Given the description of an element on the screen output the (x, y) to click on. 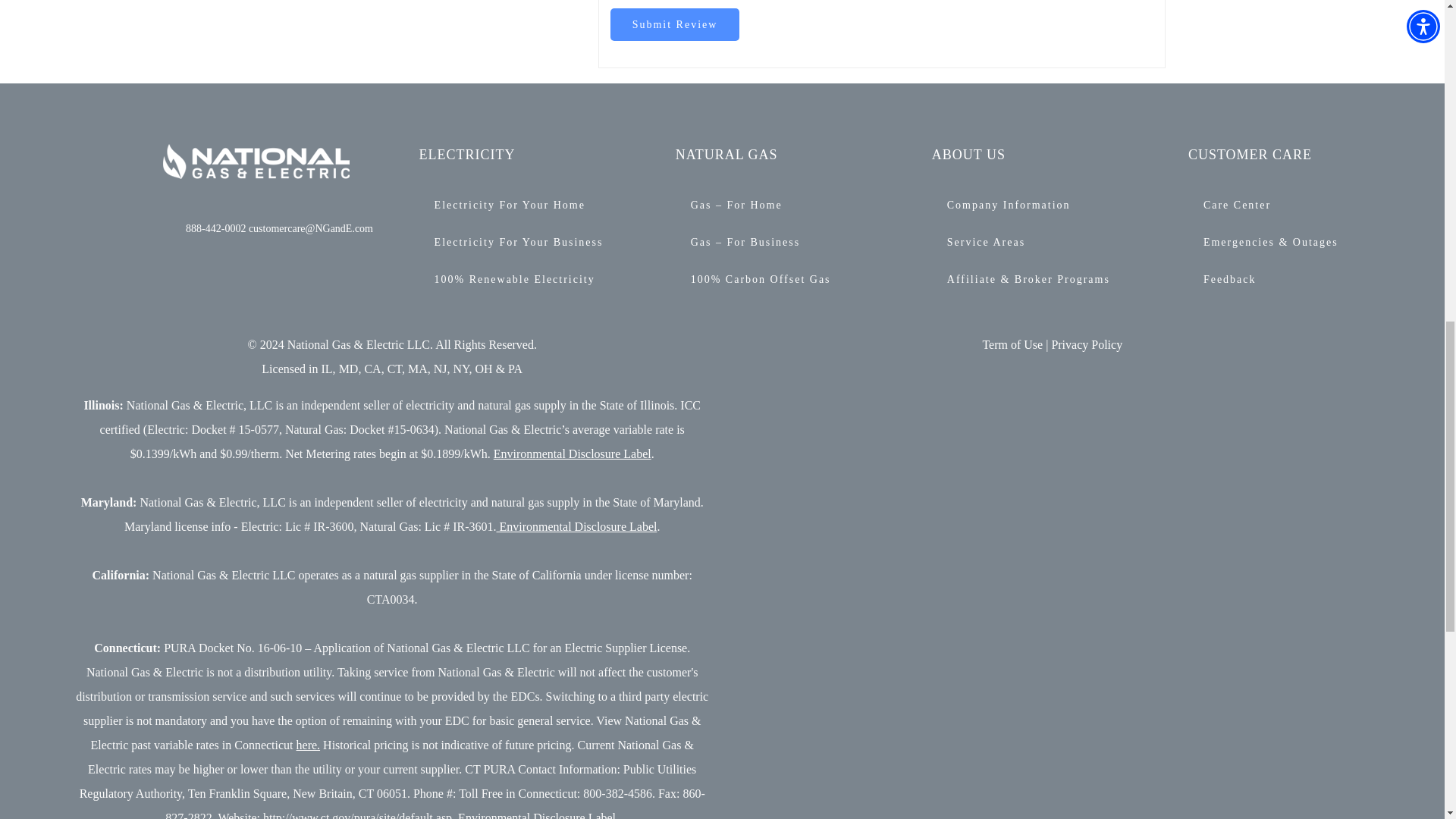
Submit Review (674, 24)
Submit Review (674, 24)
